Given the description of an element on the screen output the (x, y) to click on. 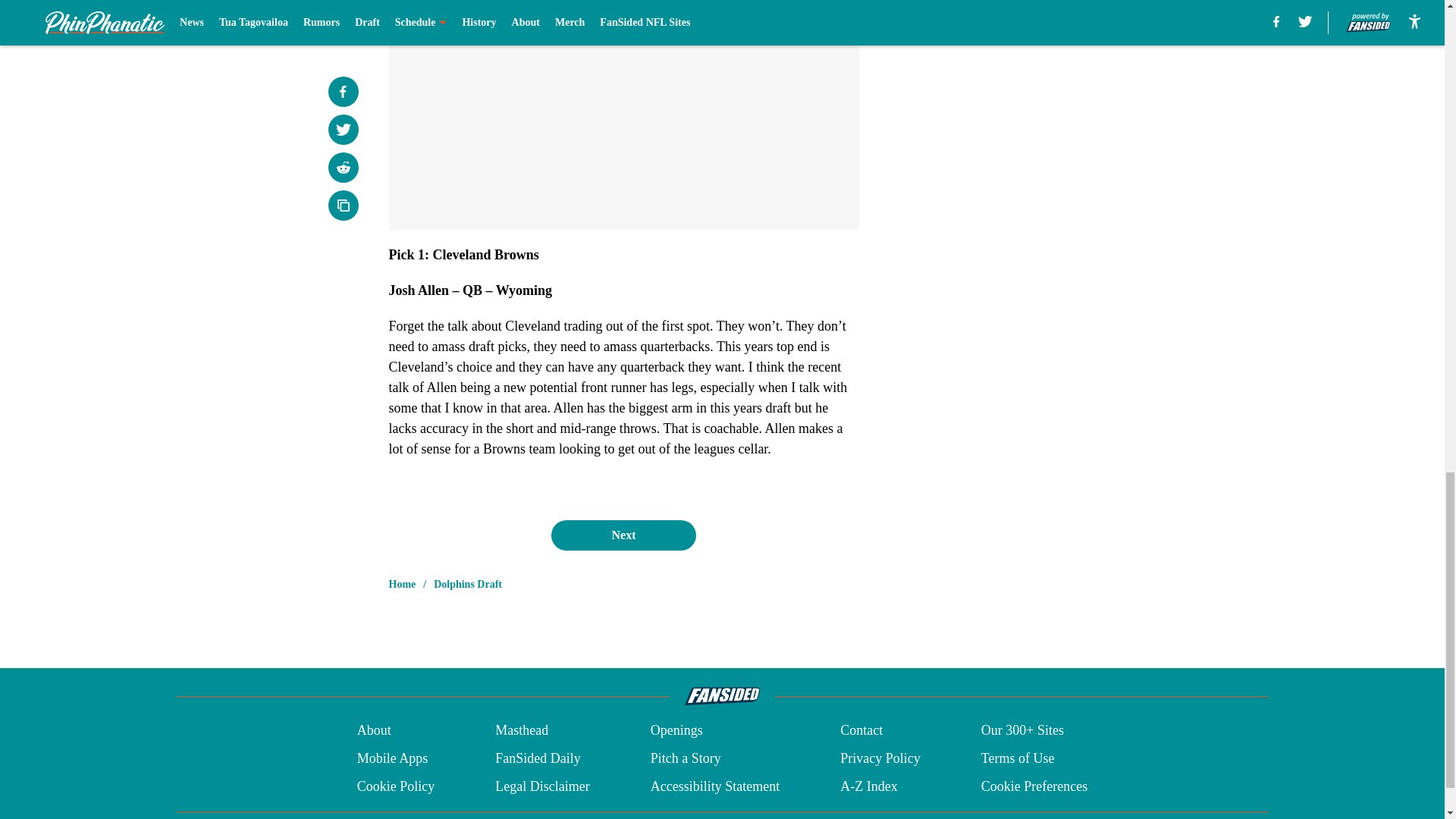
Privacy Policy (880, 758)
Openings (676, 730)
Cookie Policy (395, 786)
Home (401, 584)
About (373, 730)
Dolphins Draft (467, 584)
Legal Disclaimer (542, 786)
Pitch a Story (685, 758)
FanSided Daily (537, 758)
Terms of Use (1017, 758)
Mobile Apps (392, 758)
Next (622, 535)
Masthead (521, 730)
Contact (861, 730)
